Given the description of an element on the screen output the (x, y) to click on. 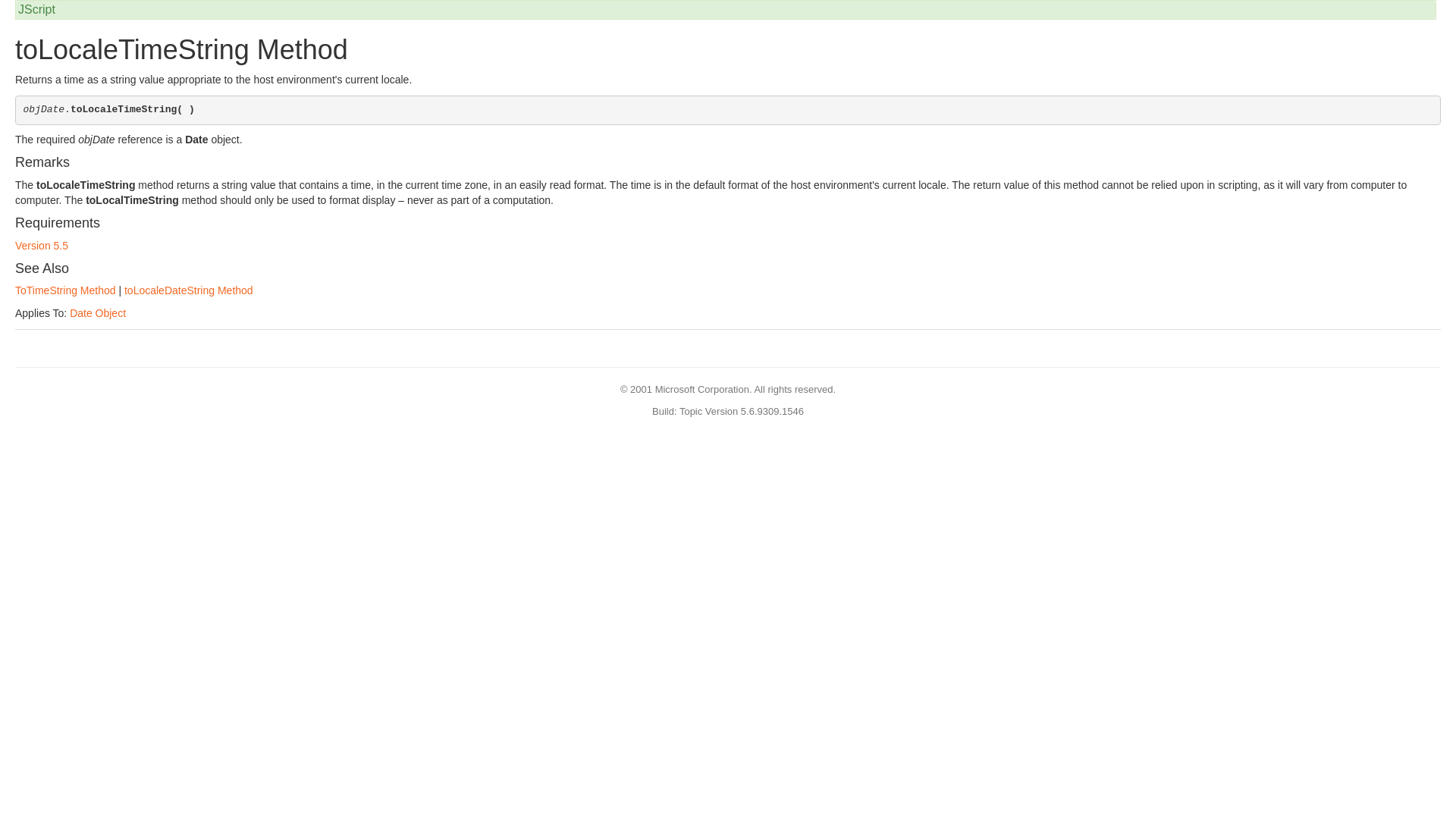
Date Object (97, 313)
Version 5.5 (41, 245)
toLocaleDateString Method (188, 290)
ToTimeString Method (65, 290)
